Given the description of an element on the screen output the (x, y) to click on. 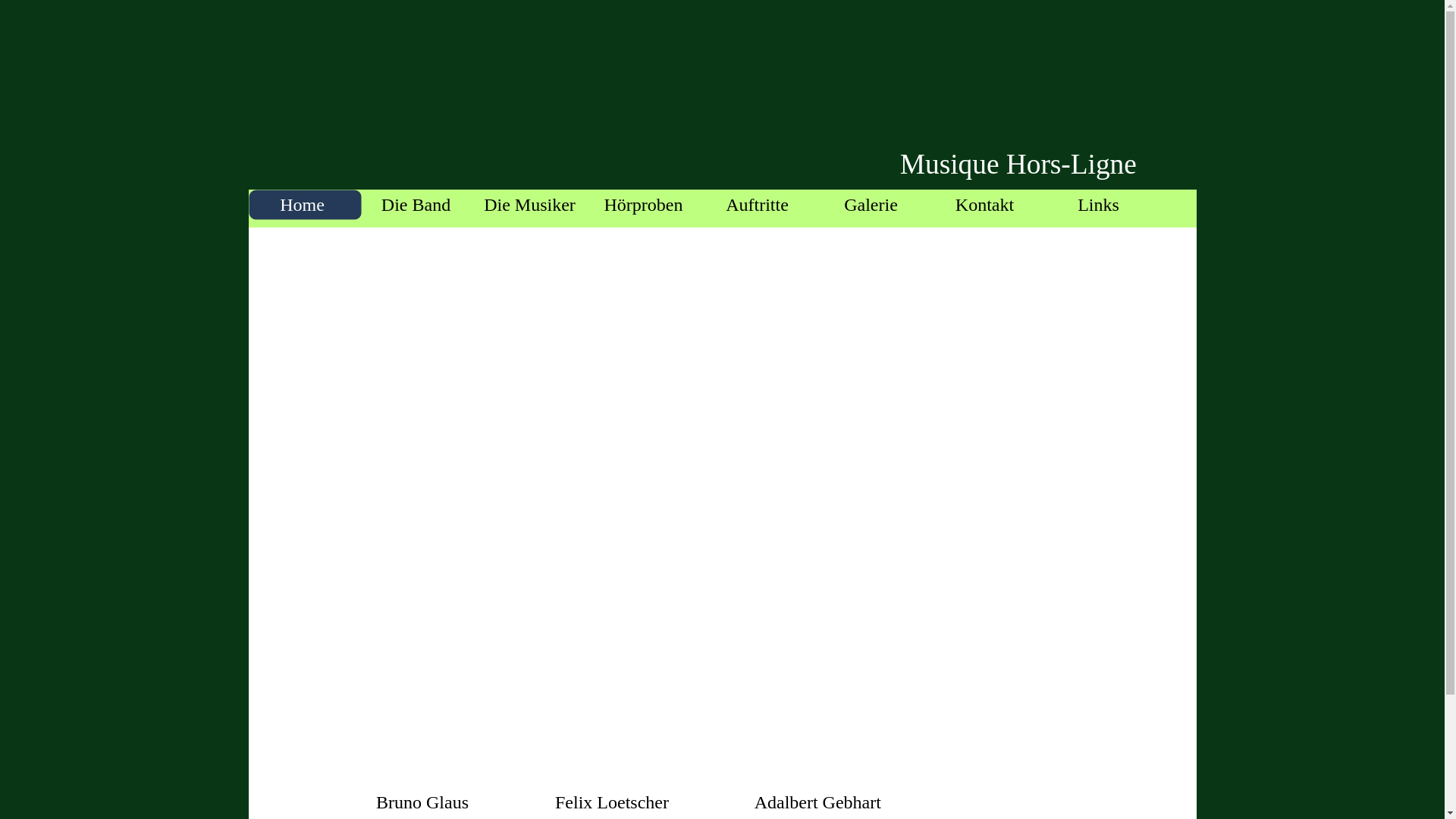
Home Element type: text (305, 204)
Die Band Element type: text (419, 204)
Auftritte Element type: text (760, 204)
Kontakt Element type: text (987, 204)
Die Musiker Element type: text (532, 204)
Links Element type: text (1101, 204)
Galerie Element type: text (874, 204)
